Given the description of an element on the screen output the (x, y) to click on. 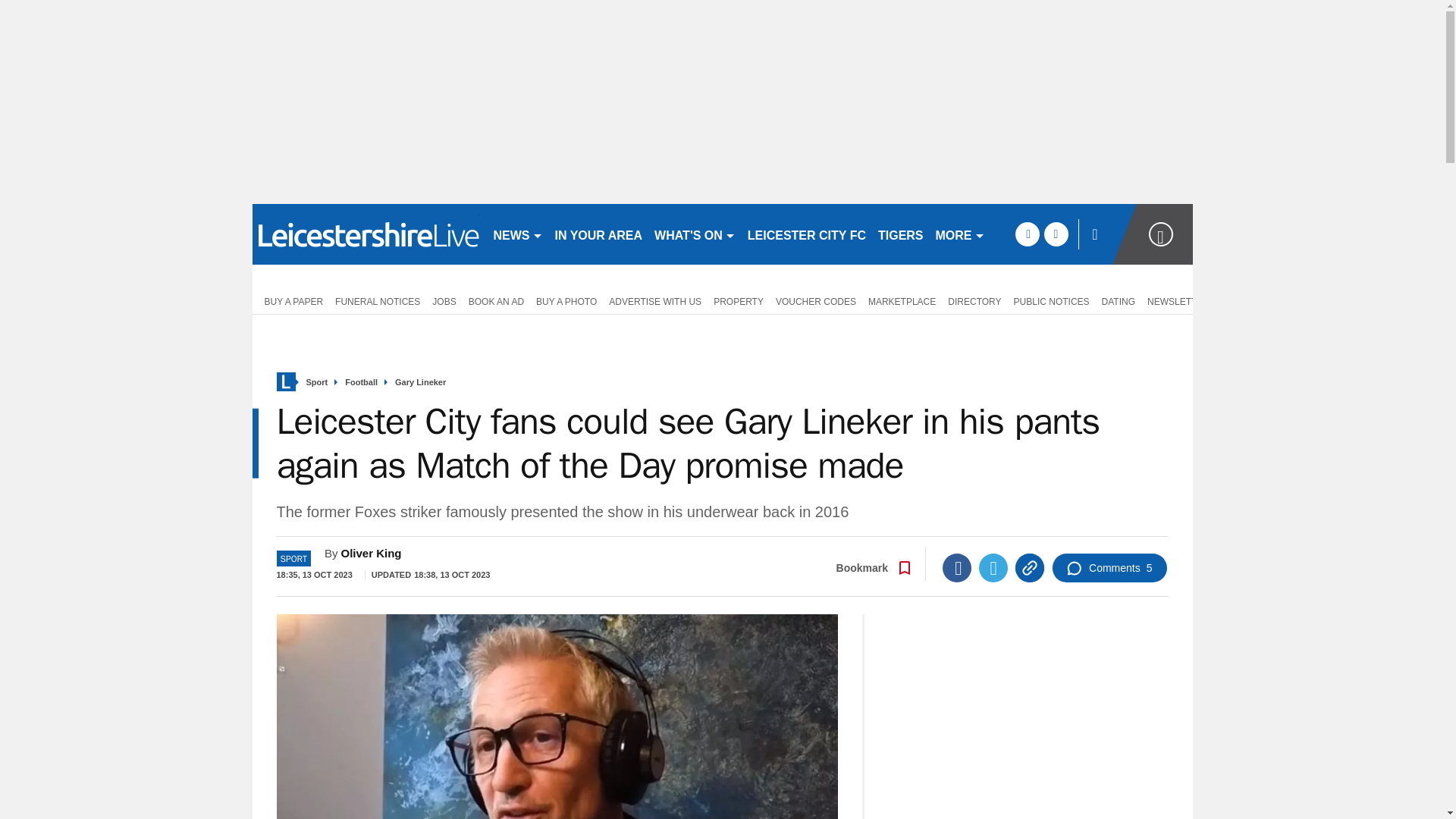
WHAT'S ON (694, 233)
IN YOUR AREA (598, 233)
NEWS (517, 233)
LEICESTER CITY FC (806, 233)
Twitter (992, 567)
leicestermercury (365, 233)
TIGERS (901, 233)
MORE (960, 233)
Facebook (956, 567)
facebook (1026, 233)
